Given the description of an element on the screen output the (x, y) to click on. 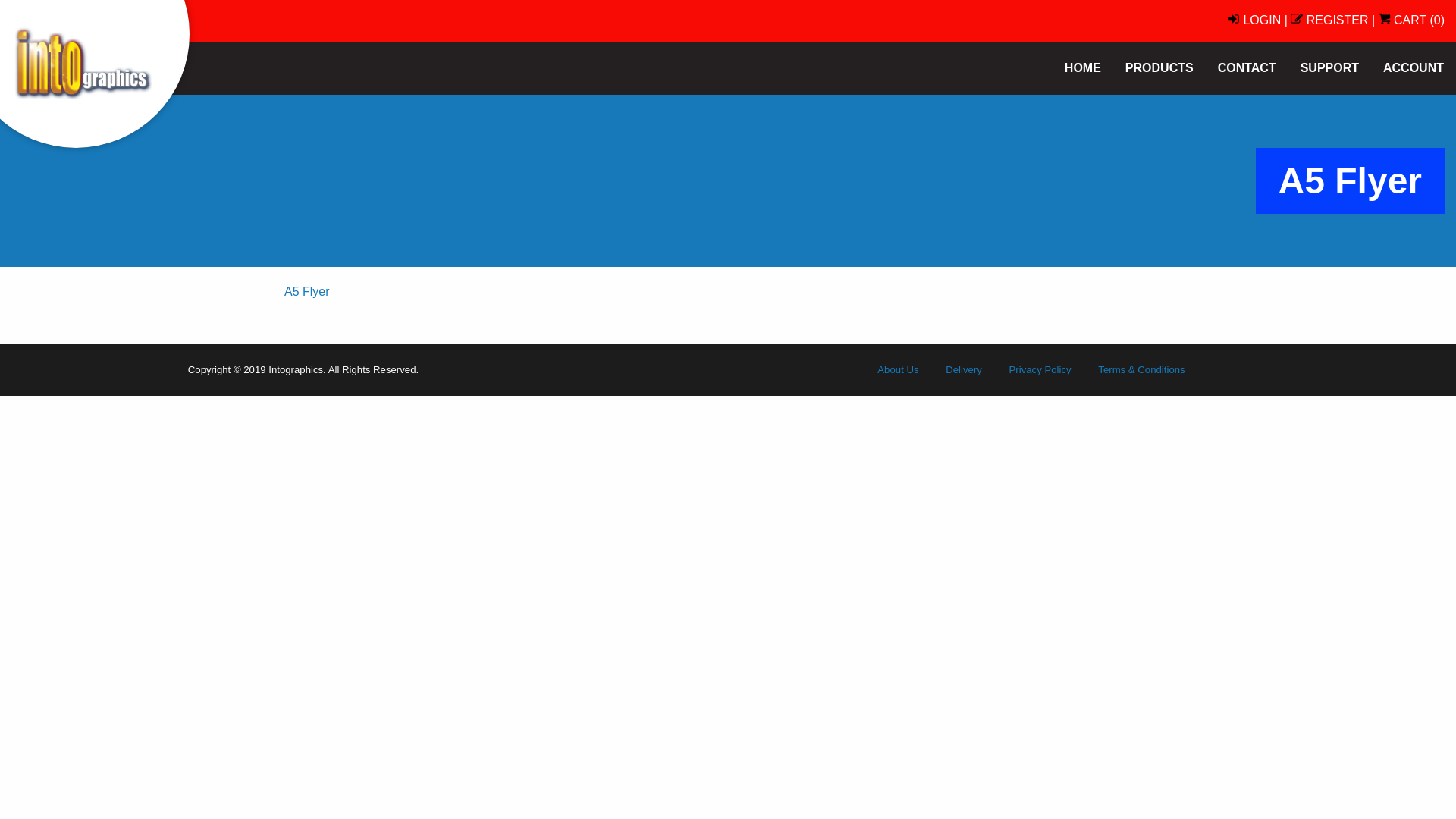
CART (0) Element type: text (1411, 19)
About Us Element type: text (897, 369)
HOME Element type: text (1082, 67)
A5 Flyer Element type: text (306, 291)
PRODUCTS Element type: text (1159, 67)
REGISTER Element type: text (1329, 19)
Privacy Policy Element type: text (1040, 369)
LOGIN Element type: text (1253, 19)
Terms & Conditions Element type: text (1140, 369)
SUPPORT Element type: text (1329, 67)
CONTACT Element type: text (1246, 67)
Delivery Element type: text (963, 369)
